Given the description of an element on the screen output the (x, y) to click on. 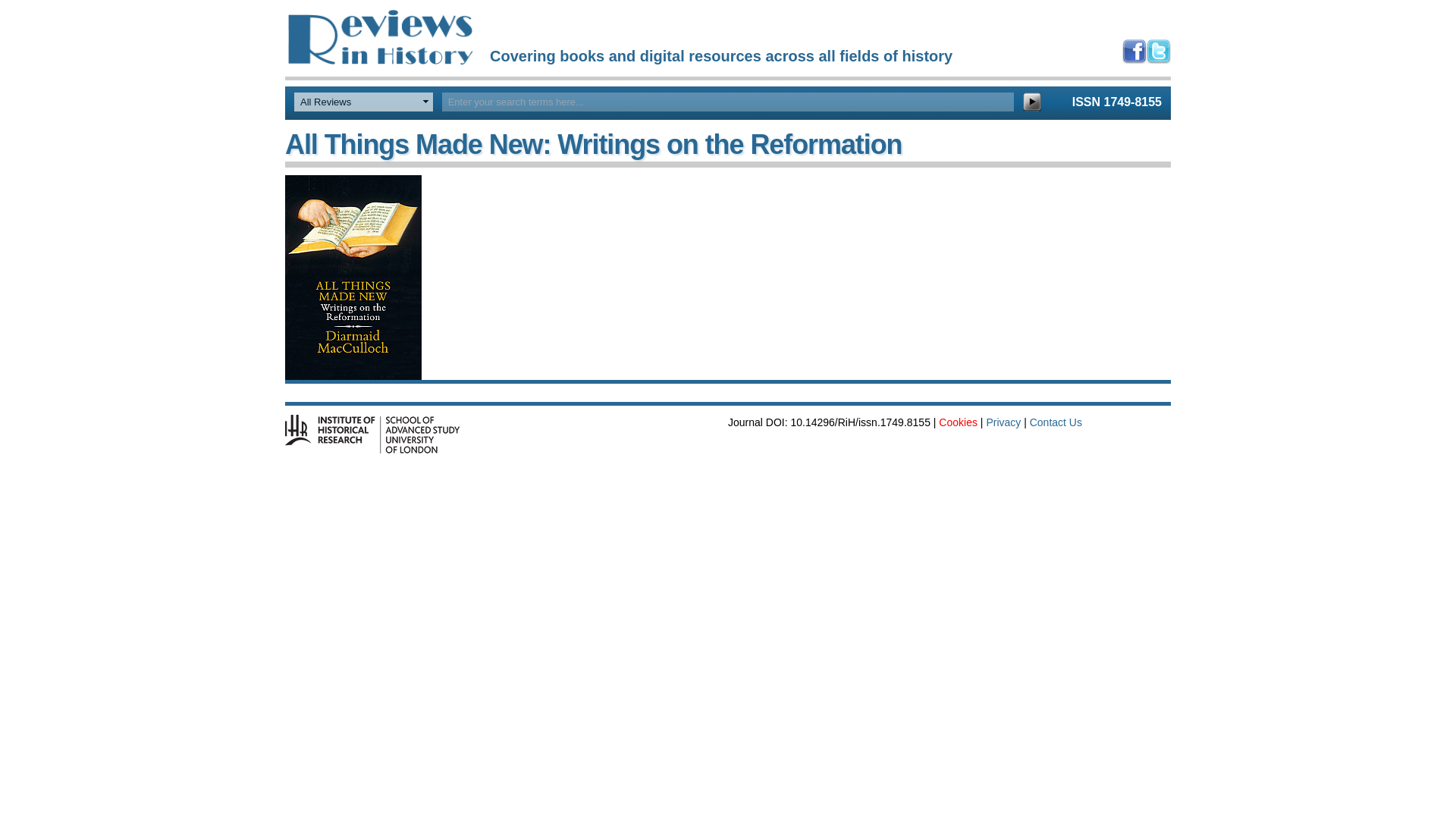
Cookies (957, 422)
Contact Us (1055, 422)
Privacy (1002, 422)
